Given the description of an element on the screen output the (x, y) to click on. 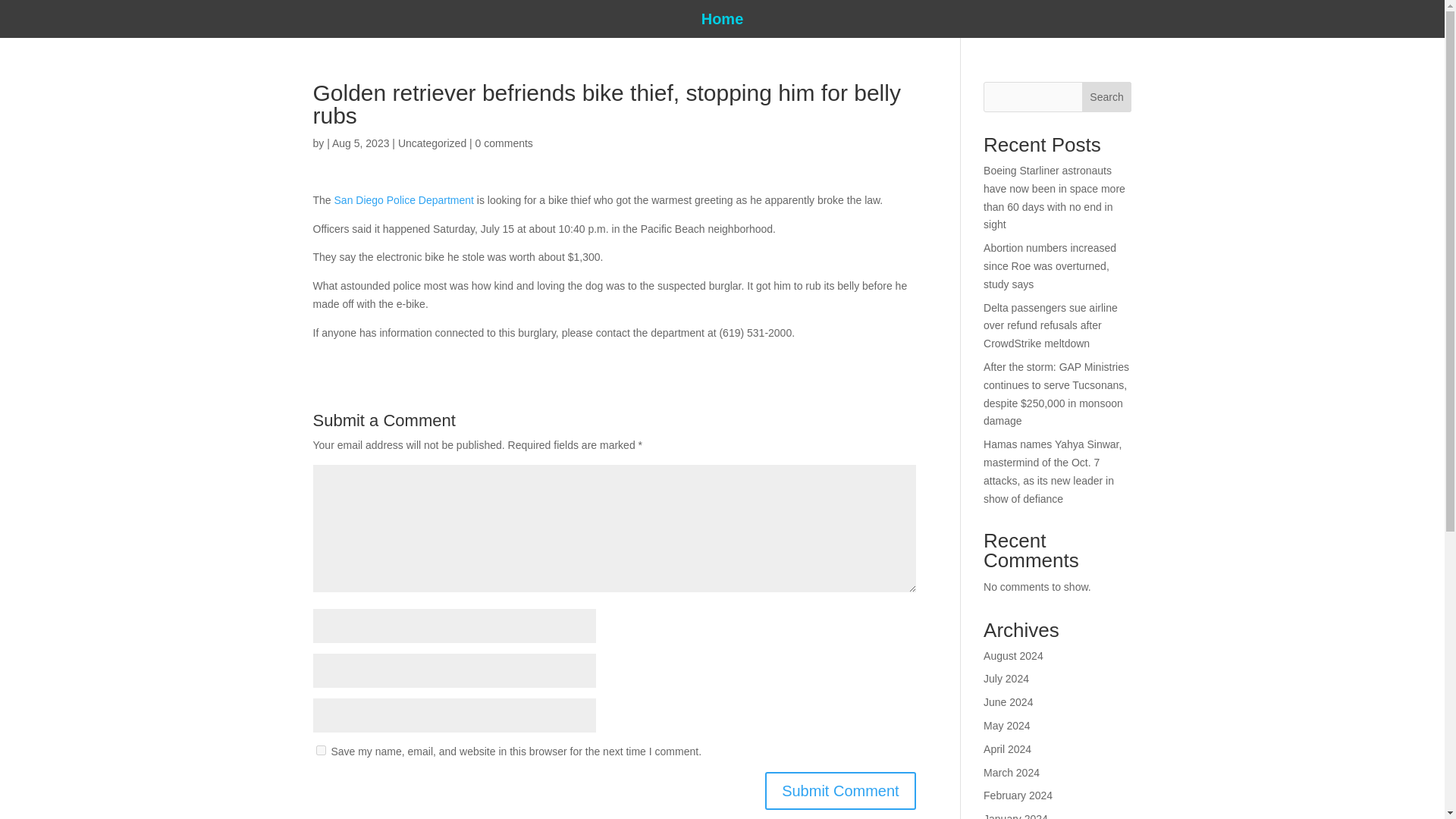
Search (1106, 96)
March 2024 (1011, 772)
January 2024 (1016, 816)
San Diego Police Department (404, 200)
August 2024 (1013, 655)
Home (722, 21)
February 2024 (1018, 795)
June 2024 (1008, 702)
